Given the description of an element on the screen output the (x, y) to click on. 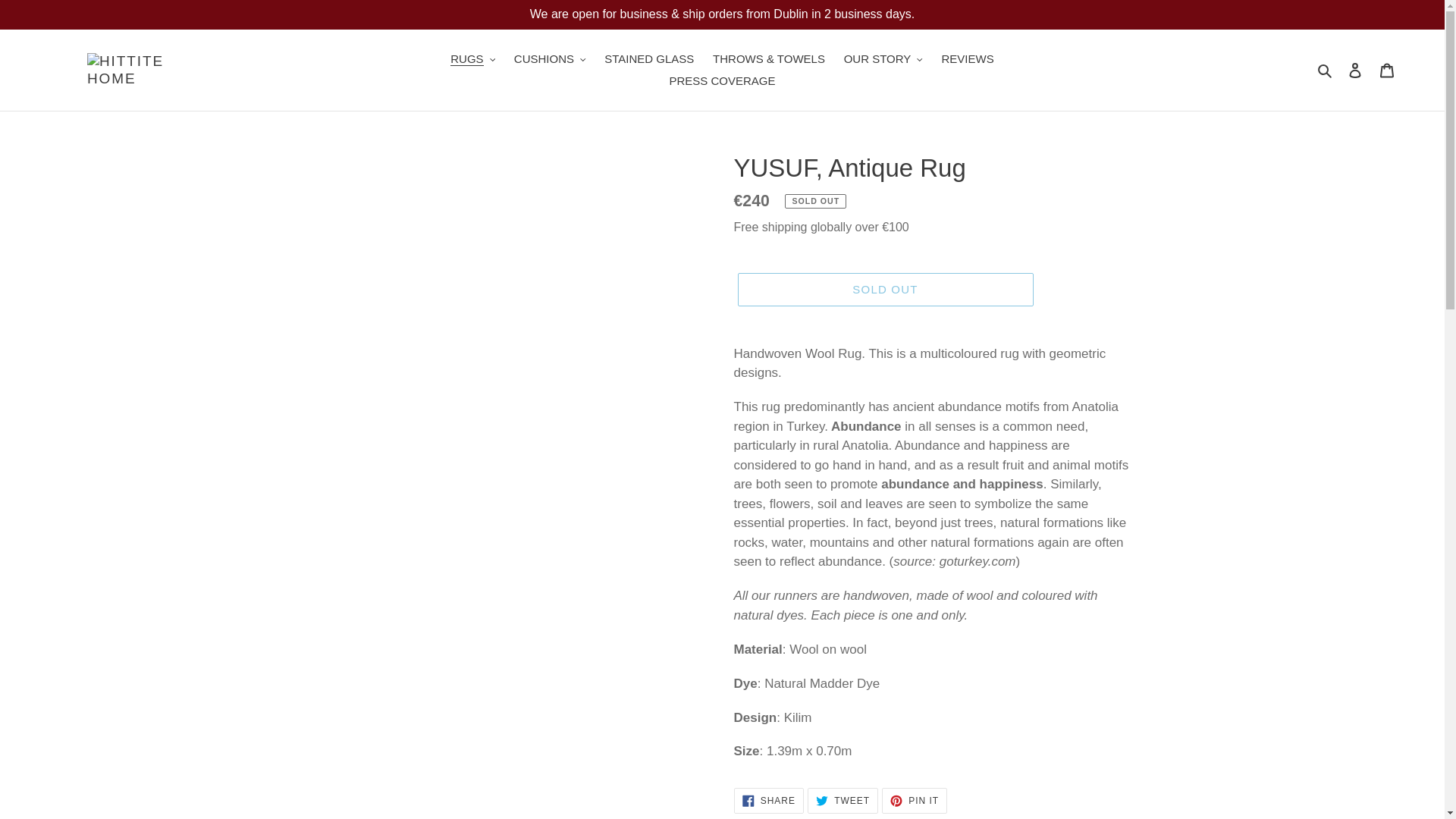
STAINED GLASS (648, 59)
Cart (1387, 70)
Search (1326, 70)
REVIEWS (967, 59)
RUGS (472, 59)
OUR STORY (882, 59)
CUSHIONS (550, 59)
Log in (1355, 70)
PRESS COVERAGE (722, 80)
